Given the description of an element on the screen output the (x, y) to click on. 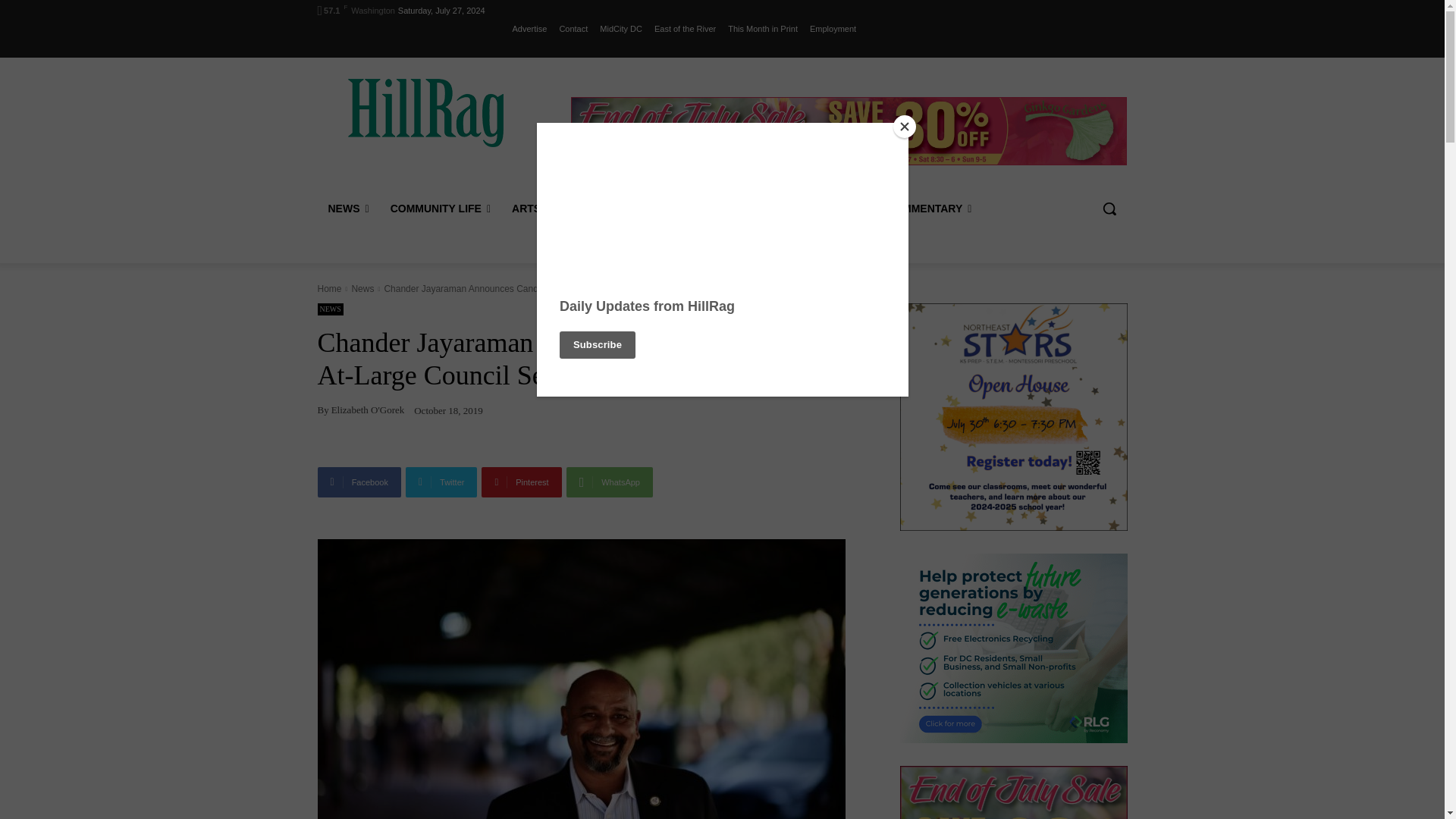
East of the River (684, 28)
MidCity DC (620, 28)
This Month in Print (762, 28)
Contact (573, 28)
COMMUNITY LIFE (440, 208)
NEWS (347, 208)
Advertise (529, 28)
Employment (832, 28)
